Given the description of an element on the screen output the (x, y) to click on. 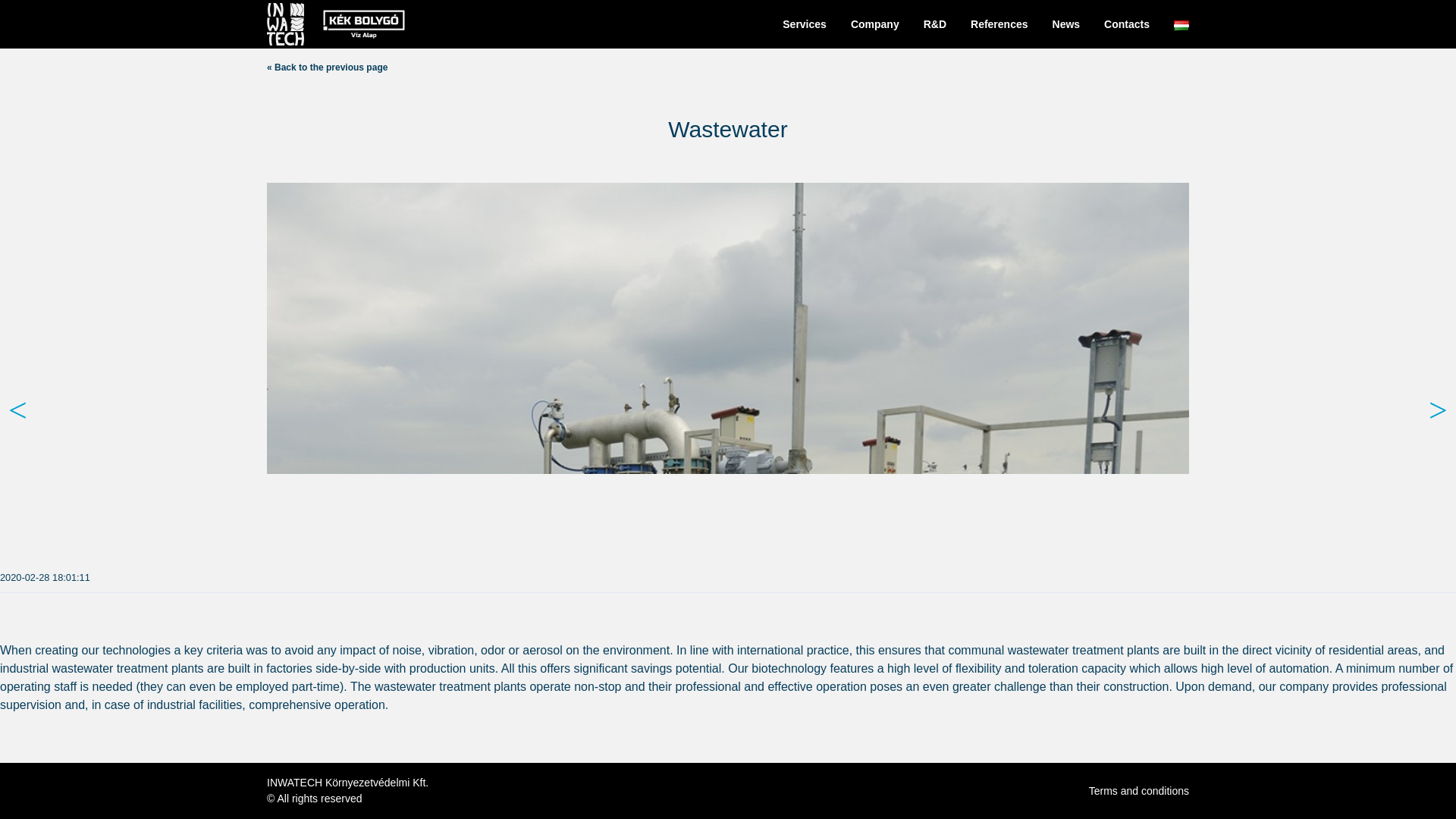
References (999, 24)
Terms and conditions (1139, 789)
News (1066, 24)
Contacts (1126, 24)
Company (874, 24)
Services (805, 24)
